Given the description of an element on the screen output the (x, y) to click on. 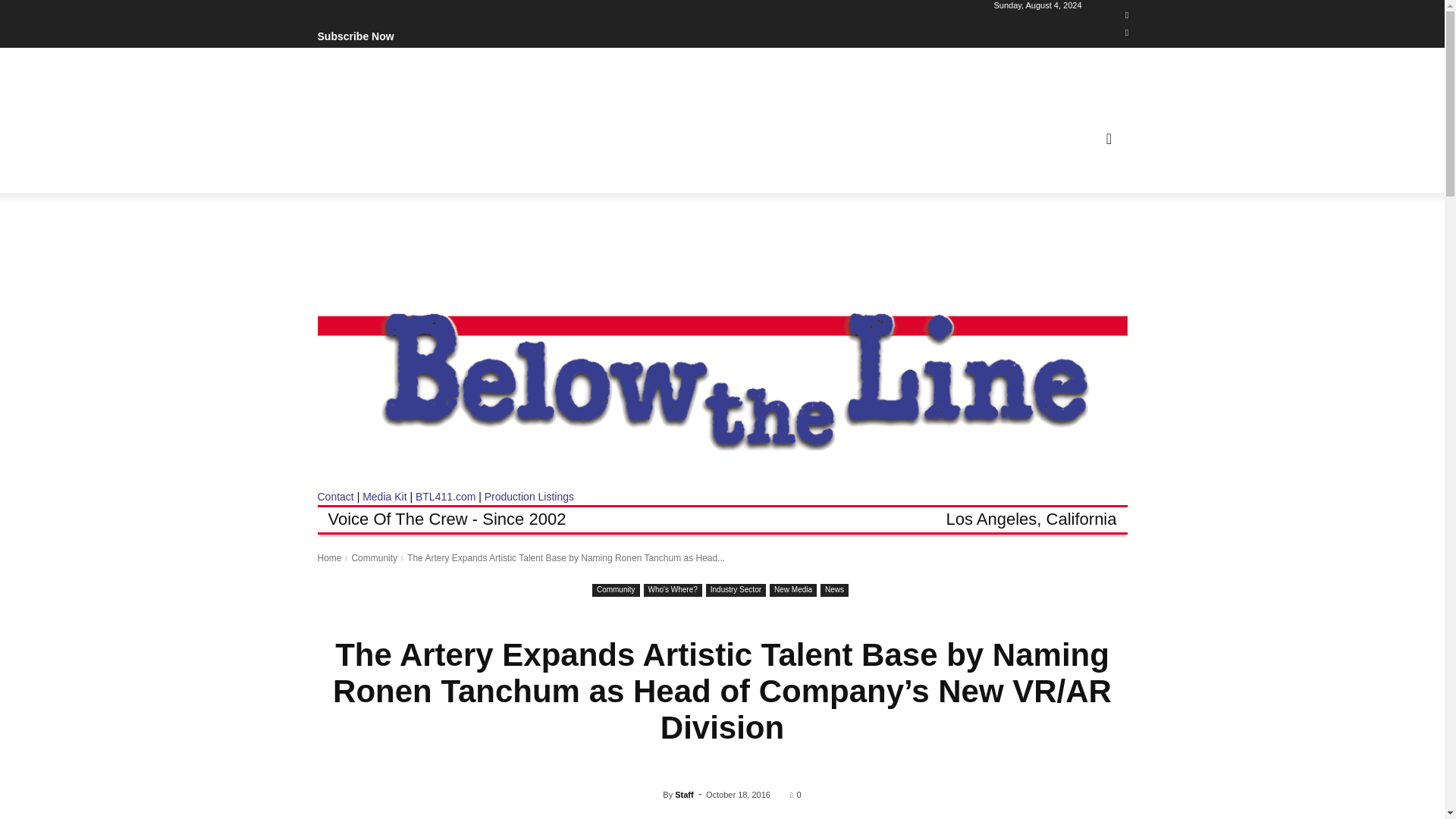
Staff (652, 794)
View all posts in Community (373, 557)
Facebook (1126, 15)
Twitter (1126, 32)
